Given the description of an element on the screen output the (x, y) to click on. 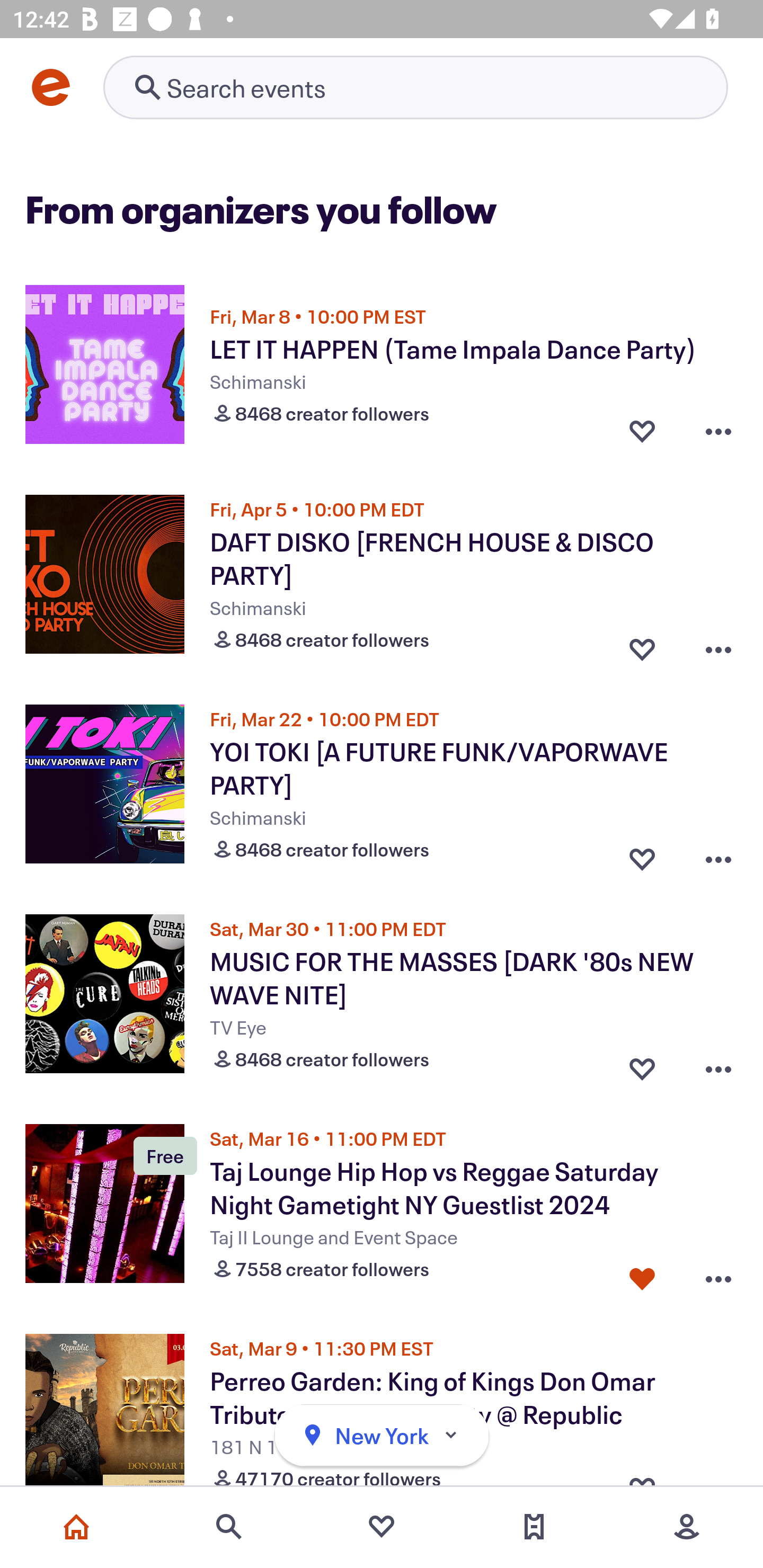
Retry's image Search events (415, 86)
Favorite button (642, 430)
Overflow menu button (718, 430)
Favorite button (642, 644)
Overflow menu button (718, 644)
Favorite button (642, 855)
Overflow menu button (718, 855)
Favorite button (642, 1065)
Overflow menu button (718, 1065)
Favorite button (642, 1274)
Overflow menu button (718, 1274)
New York (381, 1435)
Home (76, 1526)
Search events (228, 1526)
Favorites (381, 1526)
Tickets (533, 1526)
More (686, 1526)
